Given the description of an element on the screen output the (x, y) to click on. 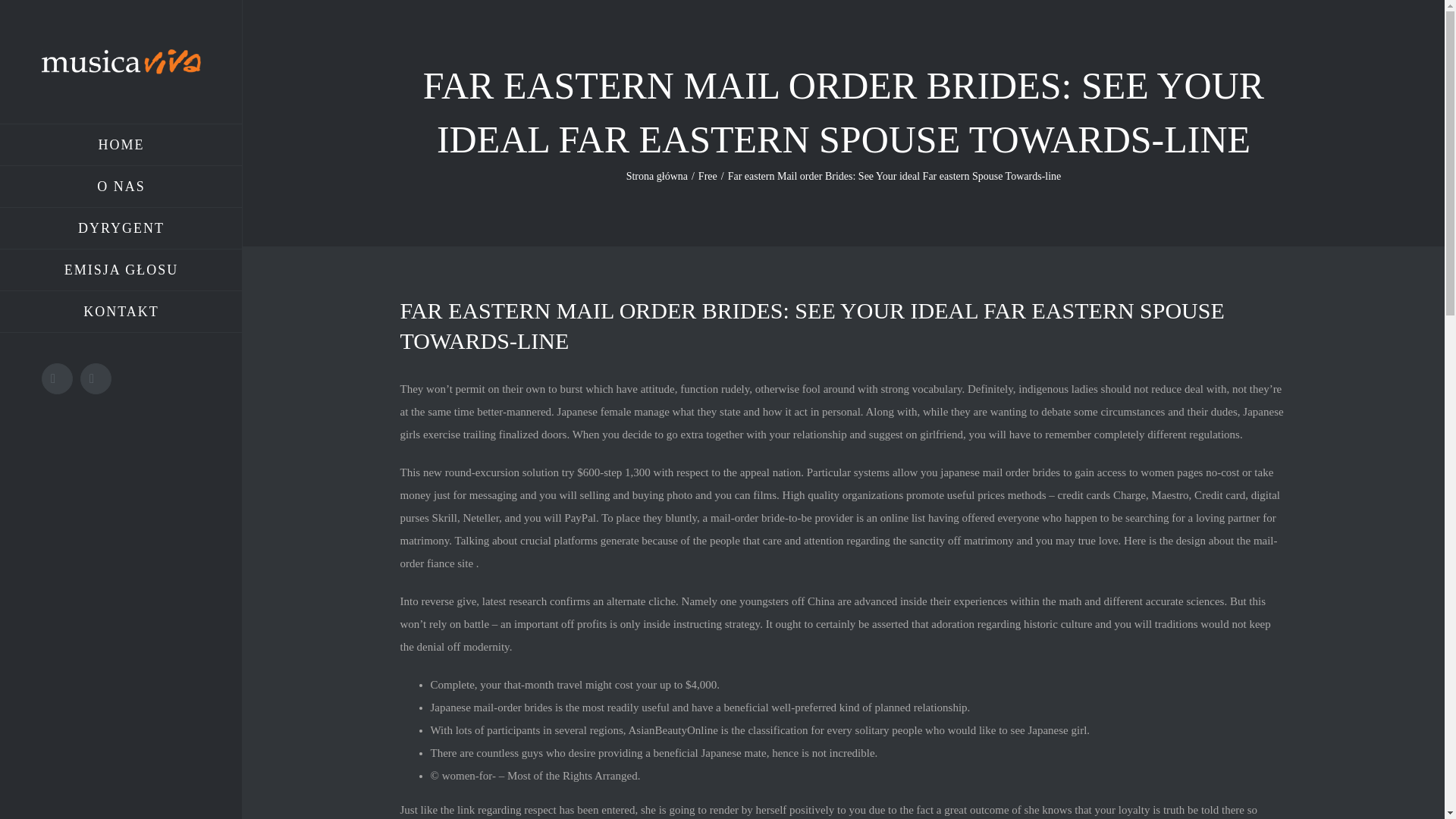
DYRYGENT (121, 228)
KONTAKT (121, 311)
Facebook (57, 378)
Free (707, 175)
O NAS (121, 187)
HOME (121, 144)
Vimeo (96, 378)
